Given the description of an element on the screen output the (x, y) to click on. 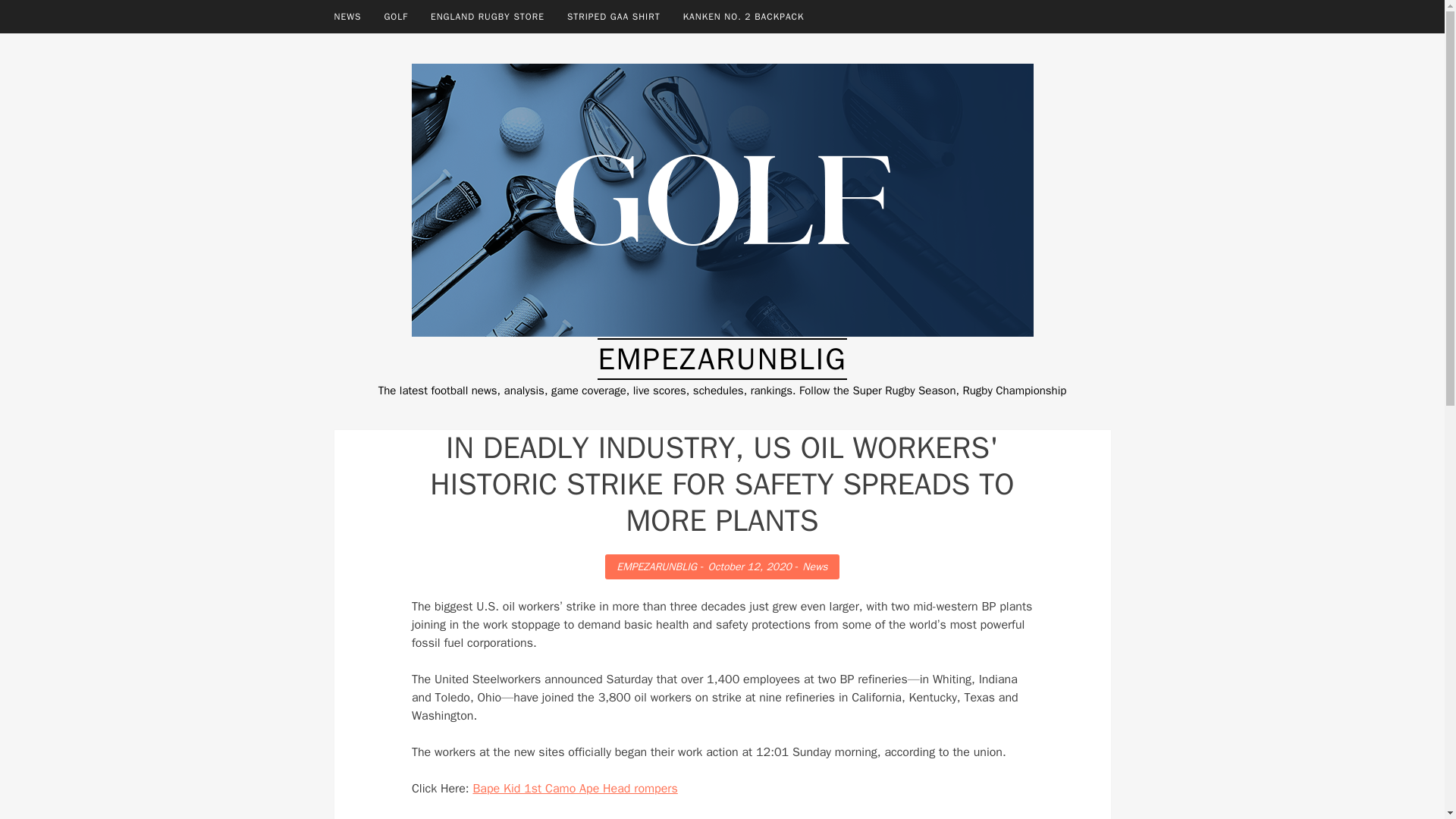
ENGLAND RUGBY STORE (487, 16)
Bape Kid 1st Camo Ape Head rompers (574, 788)
GOLF (395, 16)
STRIPED GAA SHIRT (613, 16)
October 12, 2020 (748, 565)
NEWS (347, 16)
Bape Kid 1st Camo Ape Head rompers (574, 788)
FilaThemes (829, 798)
KANKEN NO. 2 BACKPACK (743, 16)
News (814, 565)
